Given the description of an element on the screen output the (x, y) to click on. 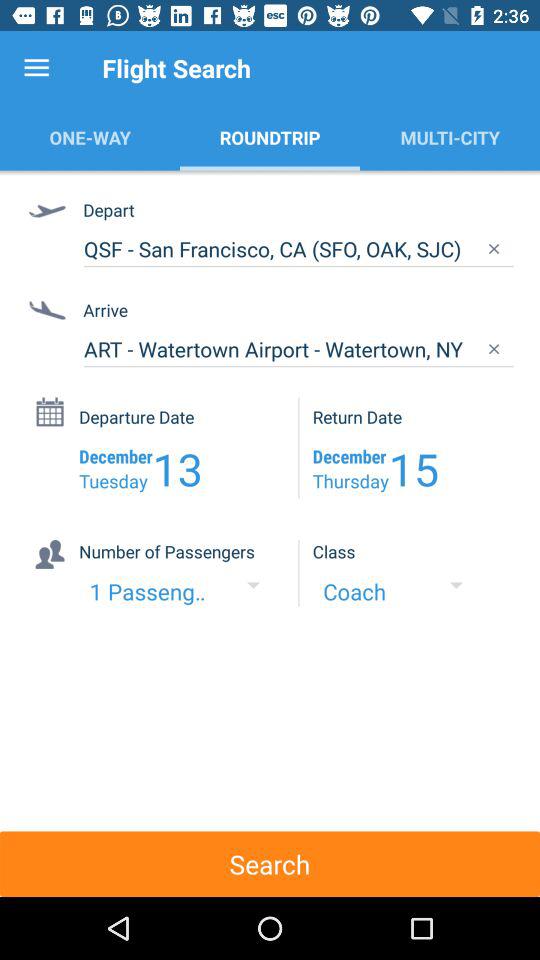
turn on the art watertown airport icon (298, 349)
